Given the description of an element on the screen output the (x, y) to click on. 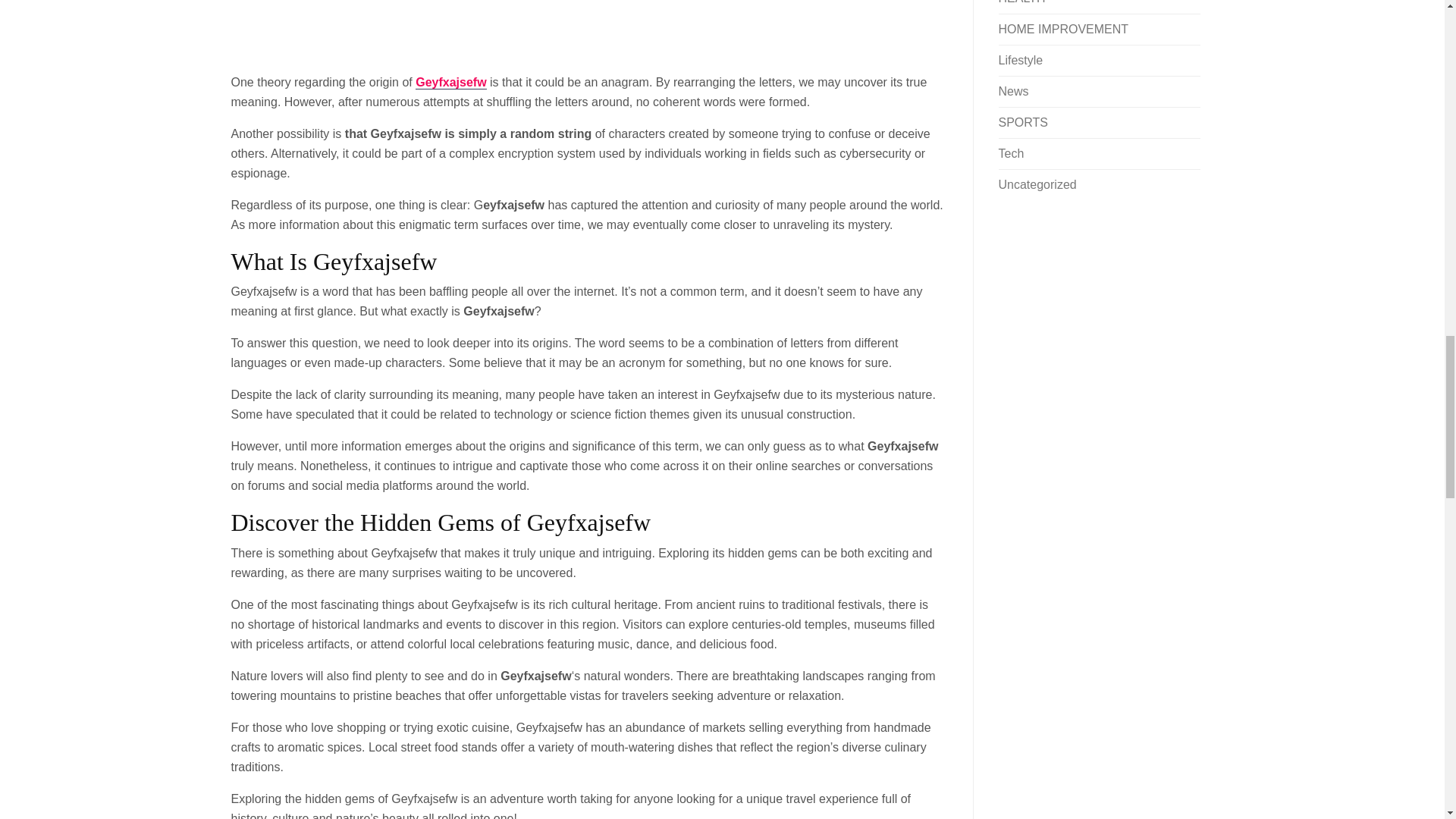
Geyfxajsefw (450, 82)
